Given the description of an element on the screen output the (x, y) to click on. 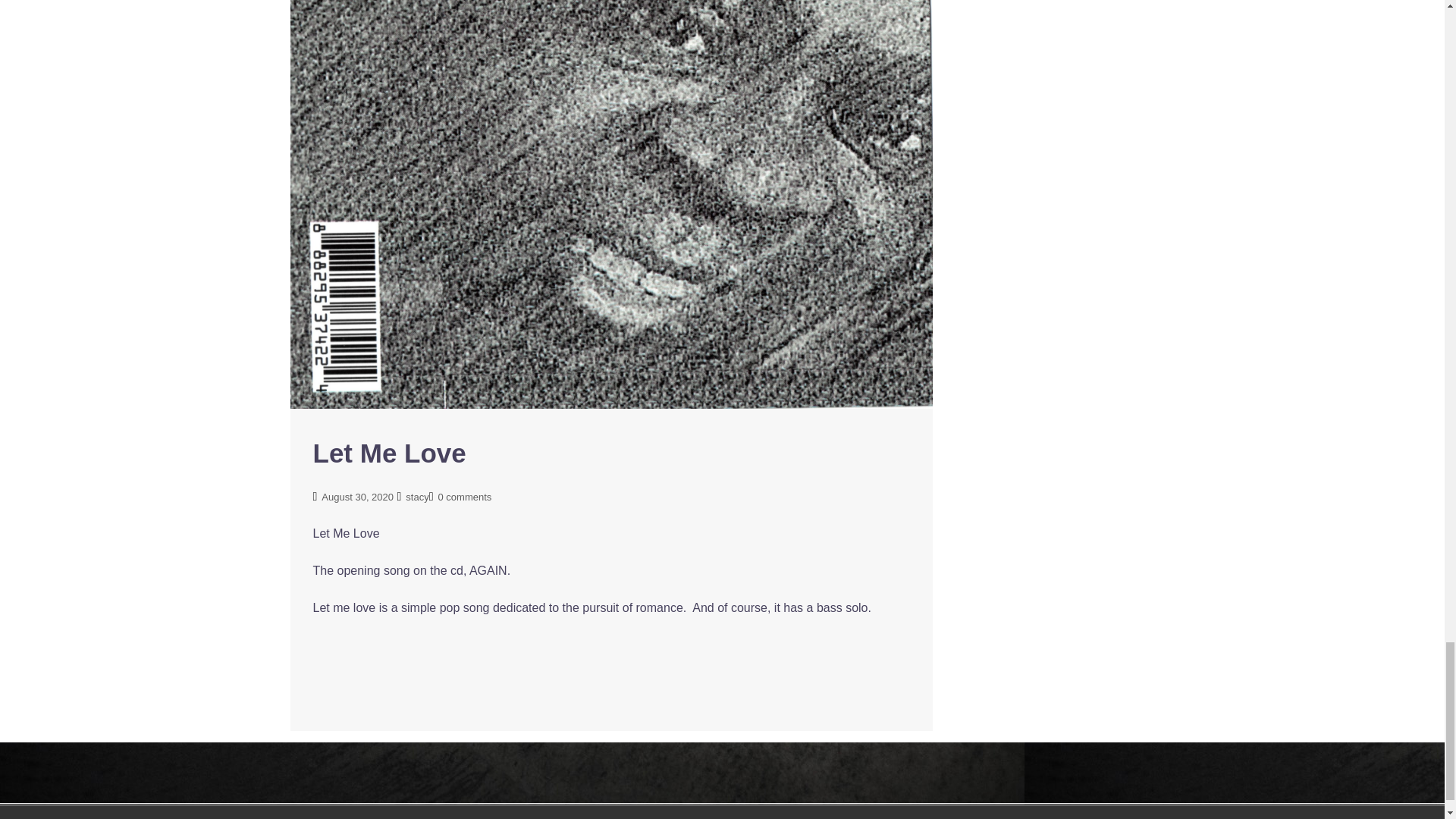
Let Me Love (389, 452)
stacy (417, 496)
August 30, 2020 (357, 496)
Let Me Love (611, 97)
0 comments (465, 496)
